Given the description of an element on the screen output the (x, y) to click on. 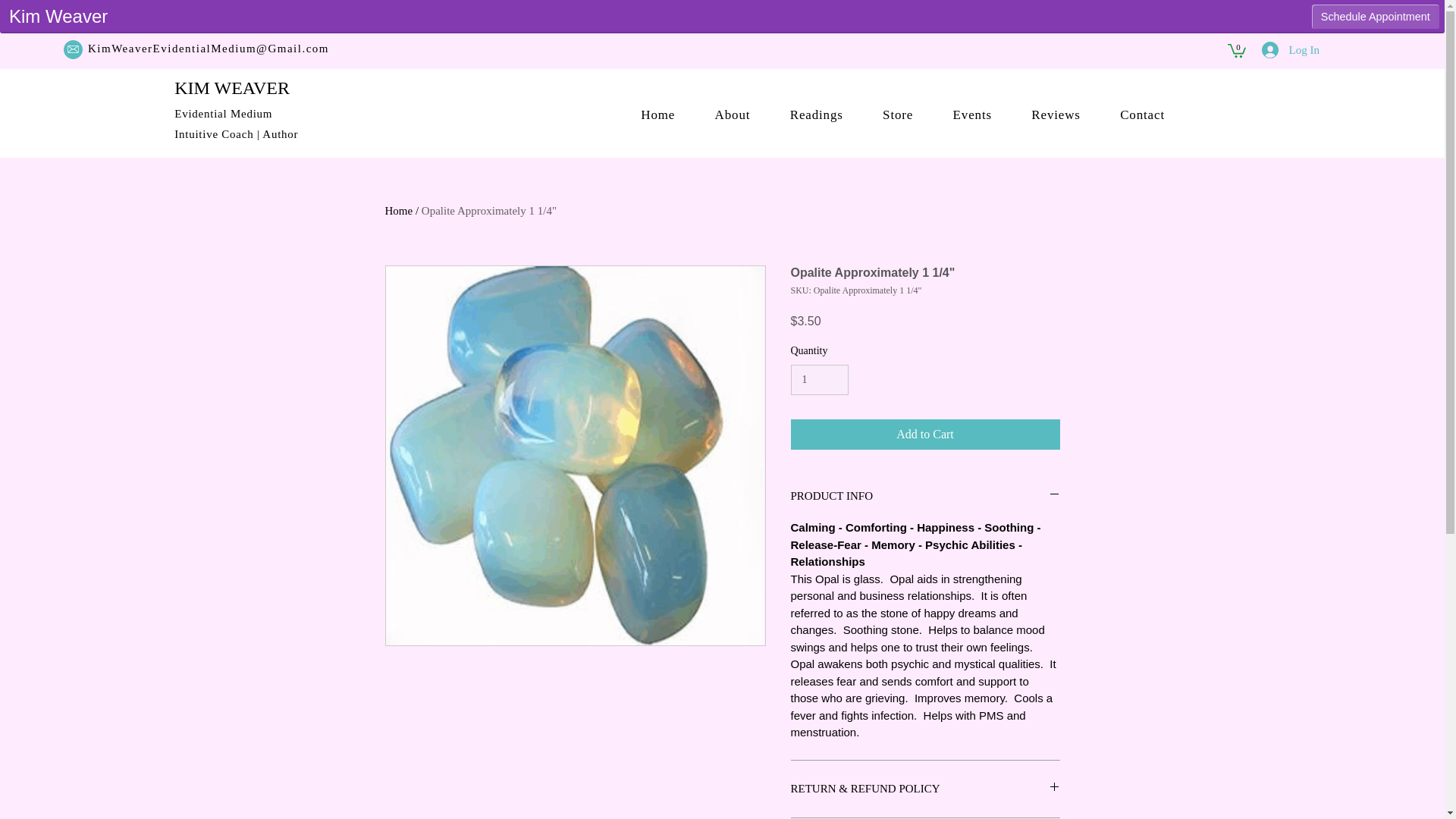
Store (898, 114)
Contact (1141, 114)
Readings (816, 114)
KIM WEAVER (231, 87)
About (732, 114)
Reviews (1055, 114)
Log In (1290, 49)
0 (1236, 49)
Add to Cart (924, 434)
Schedule Appointment (1375, 16)
